Given the description of an element on the screen output the (x, y) to click on. 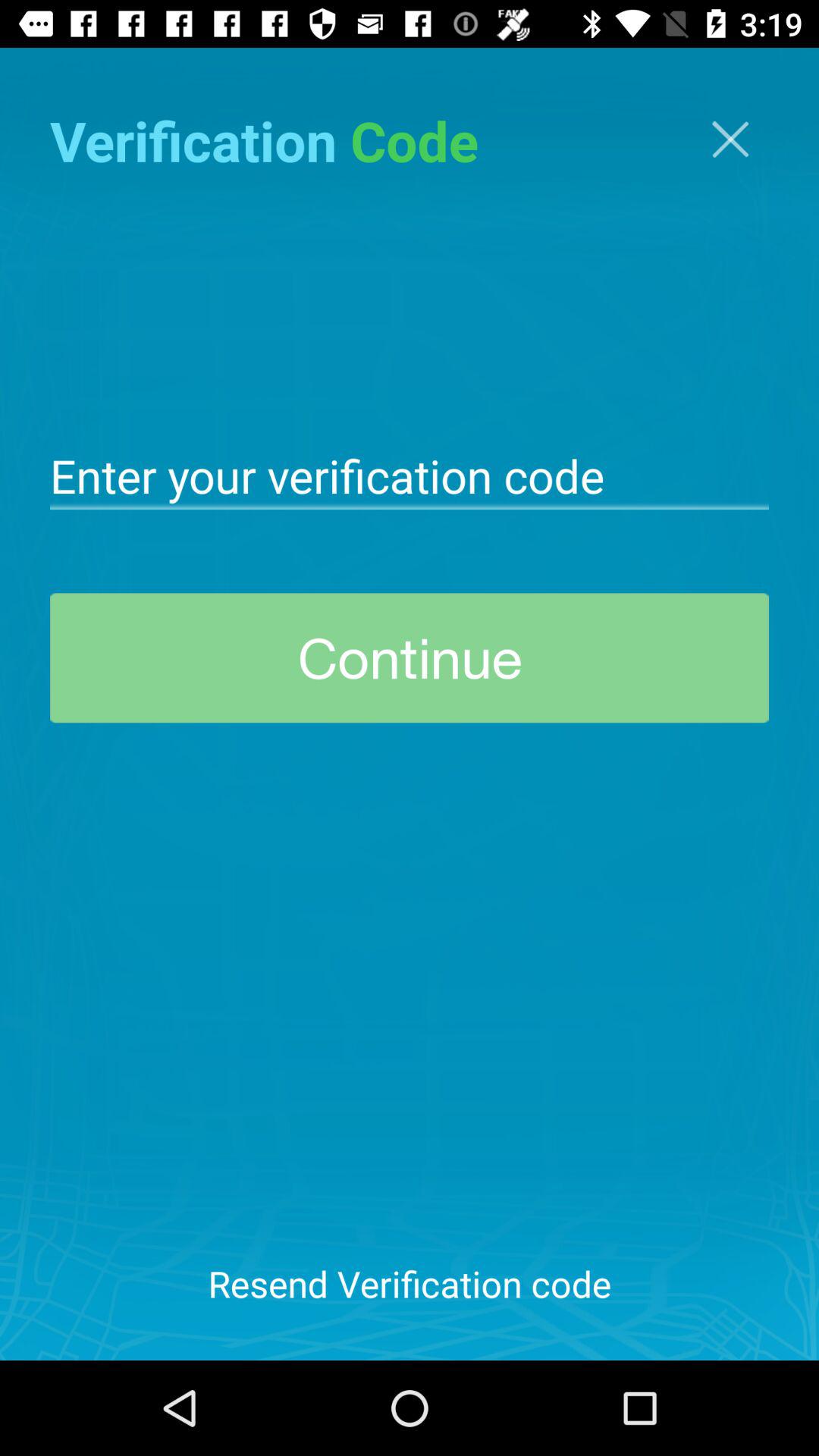
turn off the continue icon (409, 657)
